Given the description of an element on the screen output the (x, y) to click on. 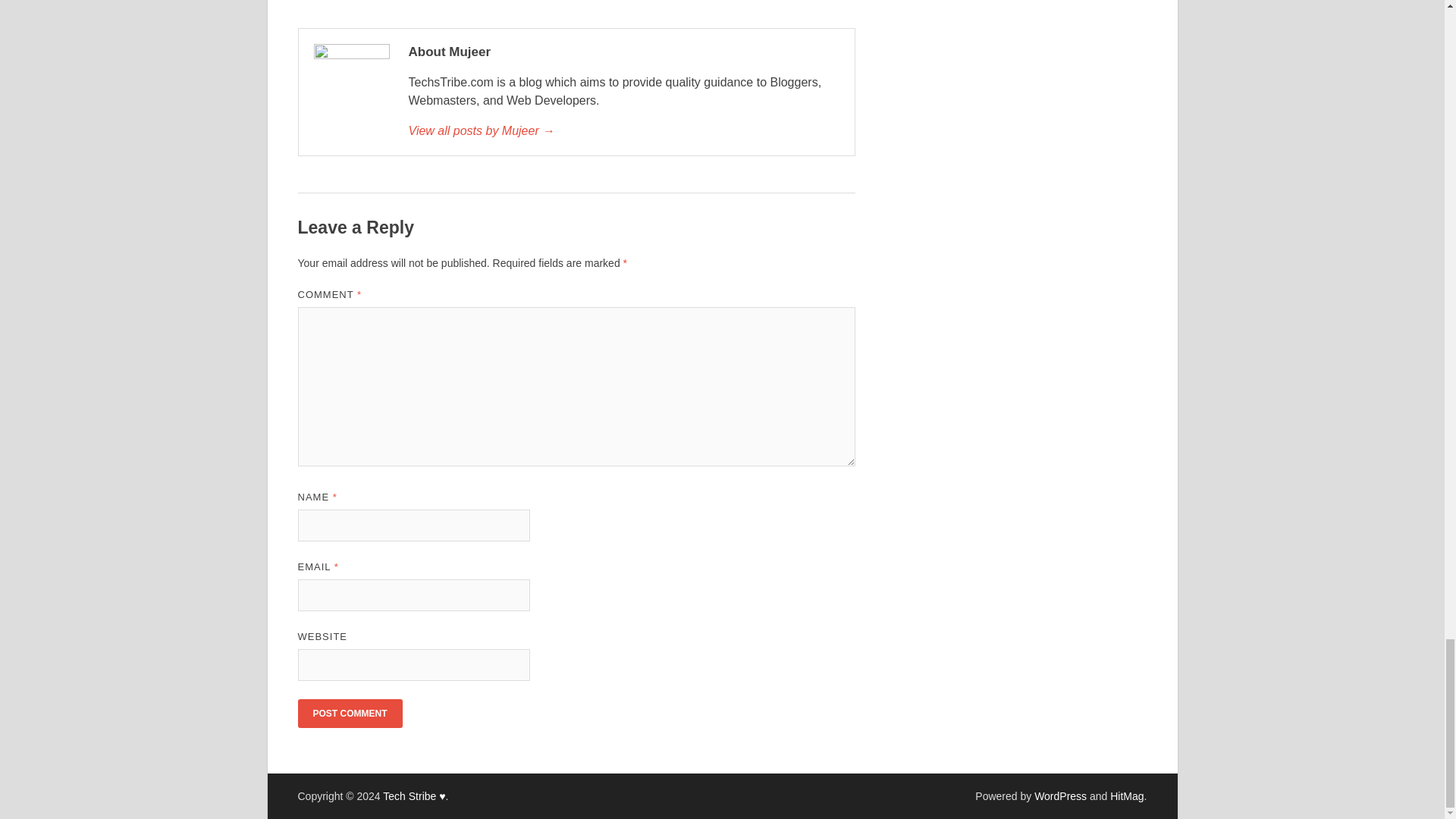
Mujeer (622, 131)
Post Comment (349, 713)
HitMag WordPress Theme (1125, 796)
WordPress (1059, 796)
